Given the description of an element on the screen output the (x, y) to click on. 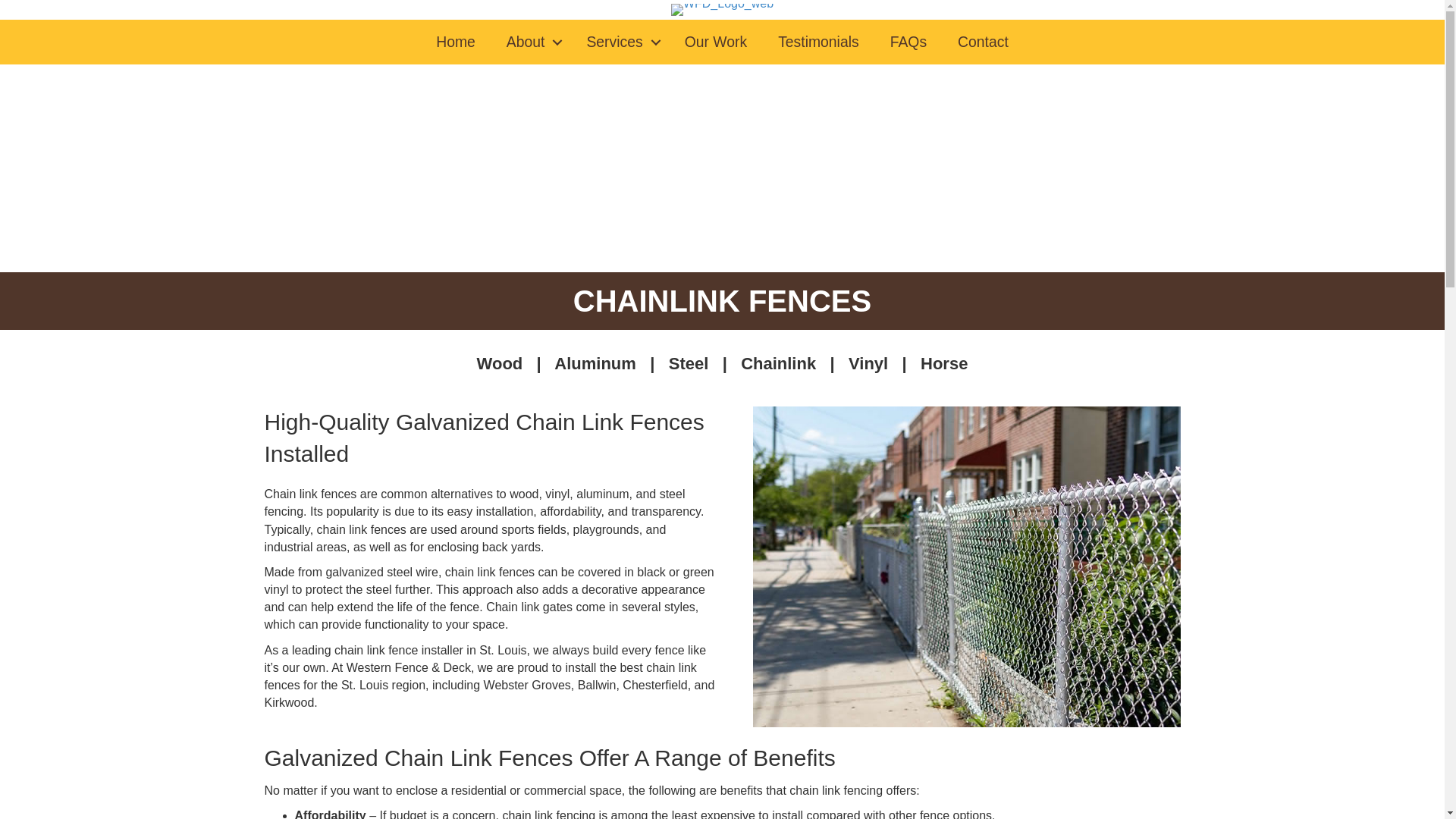
Aluminum (595, 363)
Vinyl (868, 363)
Steel (688, 363)
Testimonials (818, 41)
Wood (499, 363)
Contact (982, 41)
About (531, 41)
Services (619, 41)
Home (455, 41)
Chainlink (778, 363)
